Given the description of an element on the screen output the (x, y) to click on. 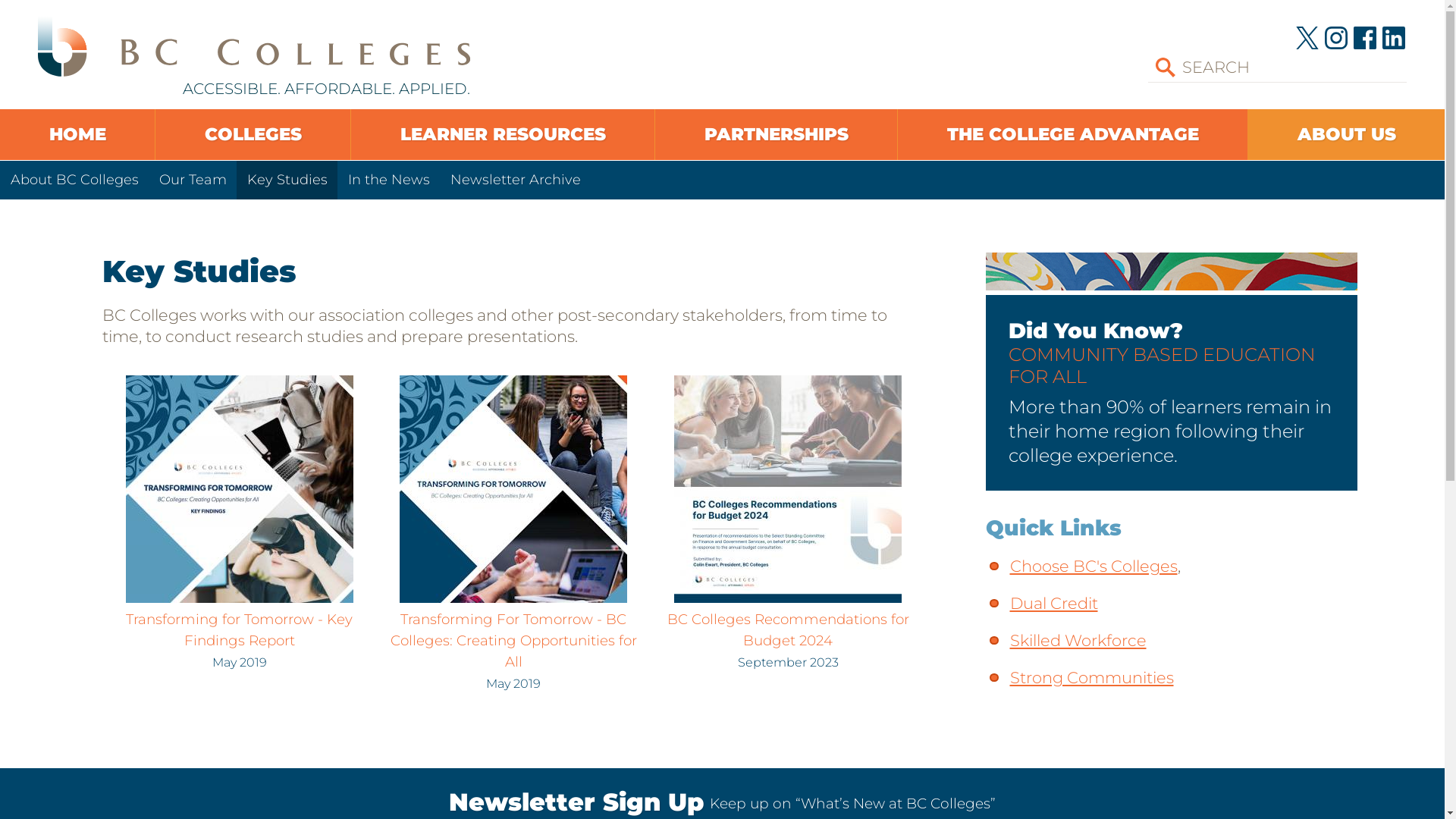
BC Colleges Recommendations for Budget 2024
September 2023 Element type: text (788, 630)
PARTNERSHIPS Element type: text (776, 134)
Choose BC's Colleges Element type: text (1093, 565)
Newsletter Archive Element type: text (514, 179)
Transforming for Tomorrow - Key Findings Report
May 2019 Element type: text (239, 630)
instagram Element type: text (1336, 44)
Our Team Element type: text (192, 179)
facebook Element type: text (1364, 44)
Skilled Workforce Element type: text (1078, 639)
linkedin Element type: text (1393, 44)
COLLEGES Element type: text (252, 134)
ABOUT US Element type: text (1346, 134)
LEARNER RESOURCES Element type: text (502, 134)
Strong Communities Element type: text (1091, 677)
About BC Colleges Element type: text (74, 179)
ACCESSIBLE. AFFORDABLE. APPLIED. Element type: text (264, 54)
THE COLLEGE ADVANTAGE Element type: text (1072, 134)
Dual Credit Element type: text (1054, 602)
Key Studies Element type: text (286, 179)
In the News Element type: text (388, 179)
HOME Element type: text (77, 134)
